Given the description of an element on the screen output the (x, y) to click on. 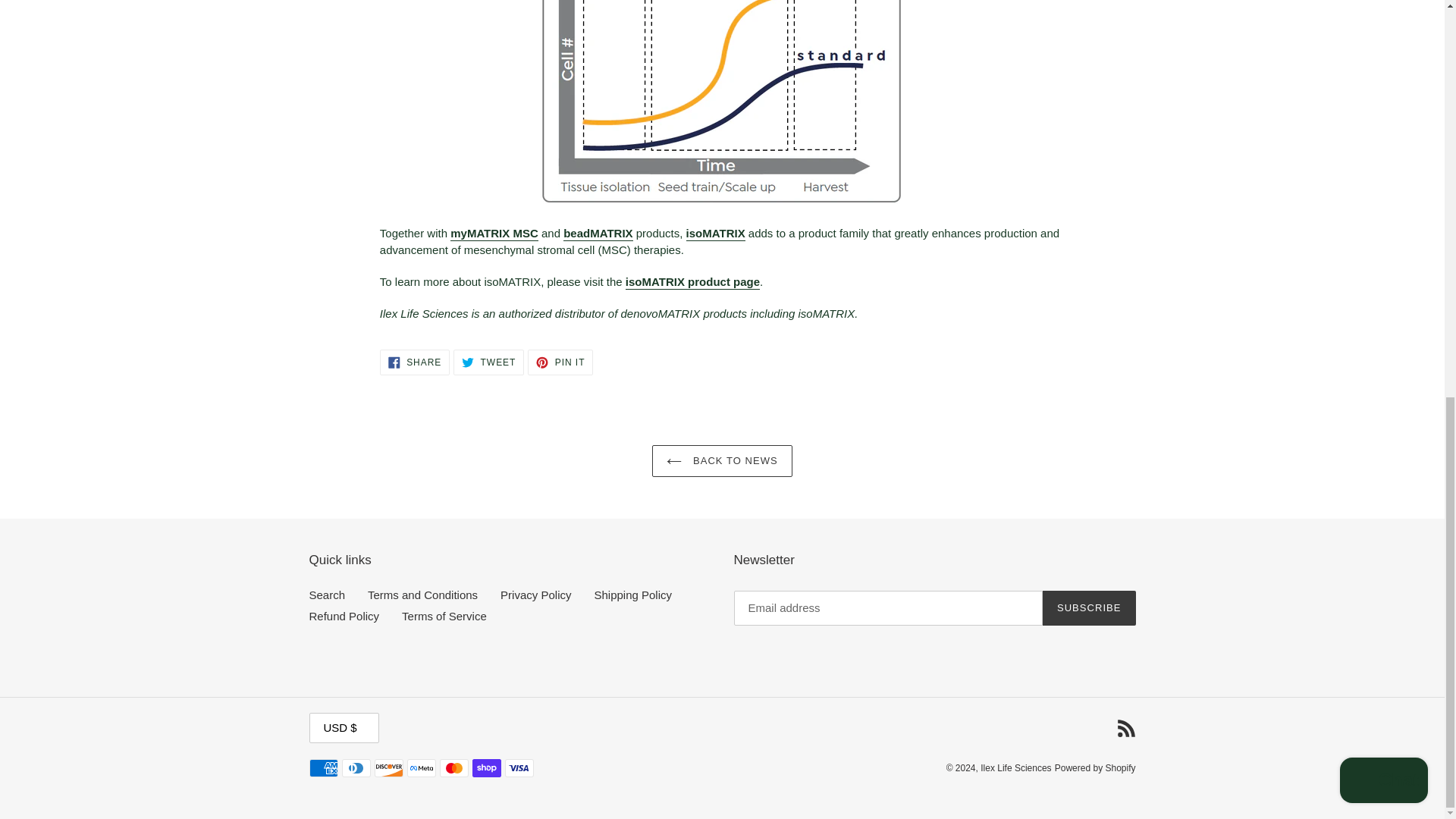
isoMATRIX: precoated cultureware for MSCs isolation (715, 233)
beadMATRIX: precoated microcarriers for MSCs culture (597, 233)
Shopify online store chat (1383, 17)
isoMATRIX product page (693, 282)
